Given the description of an element on the screen output the (x, y) to click on. 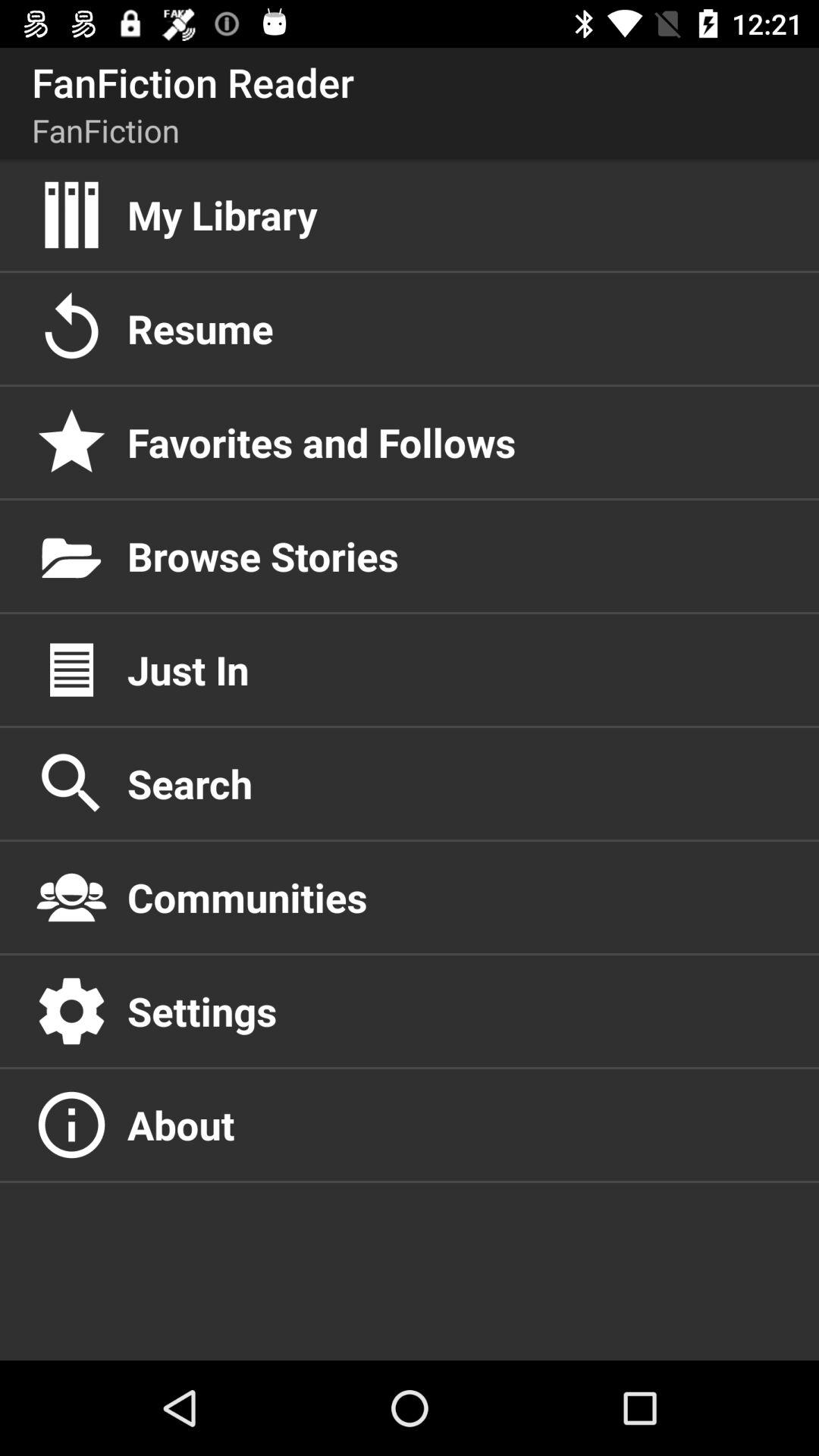
select my library (457, 214)
